Given the description of an element on the screen output the (x, y) to click on. 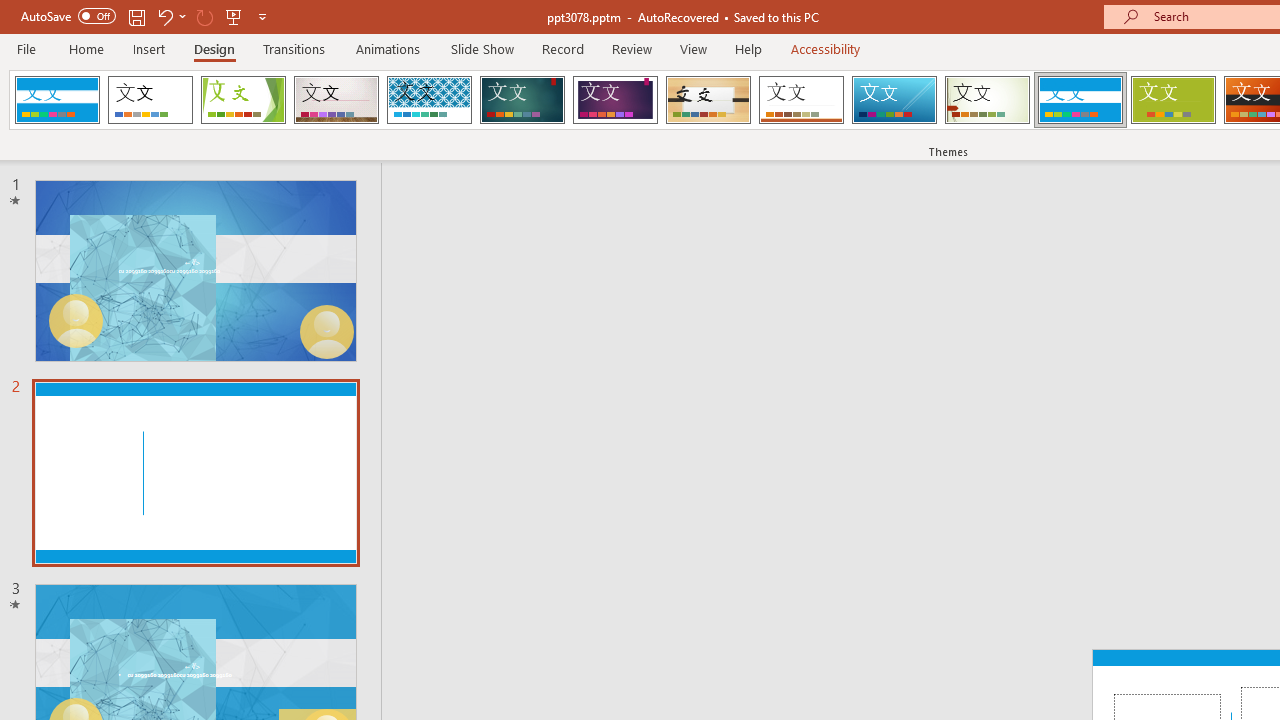
Wisp (987, 100)
Basis (1172, 100)
